Given the description of an element on the screen output the (x, y) to click on. 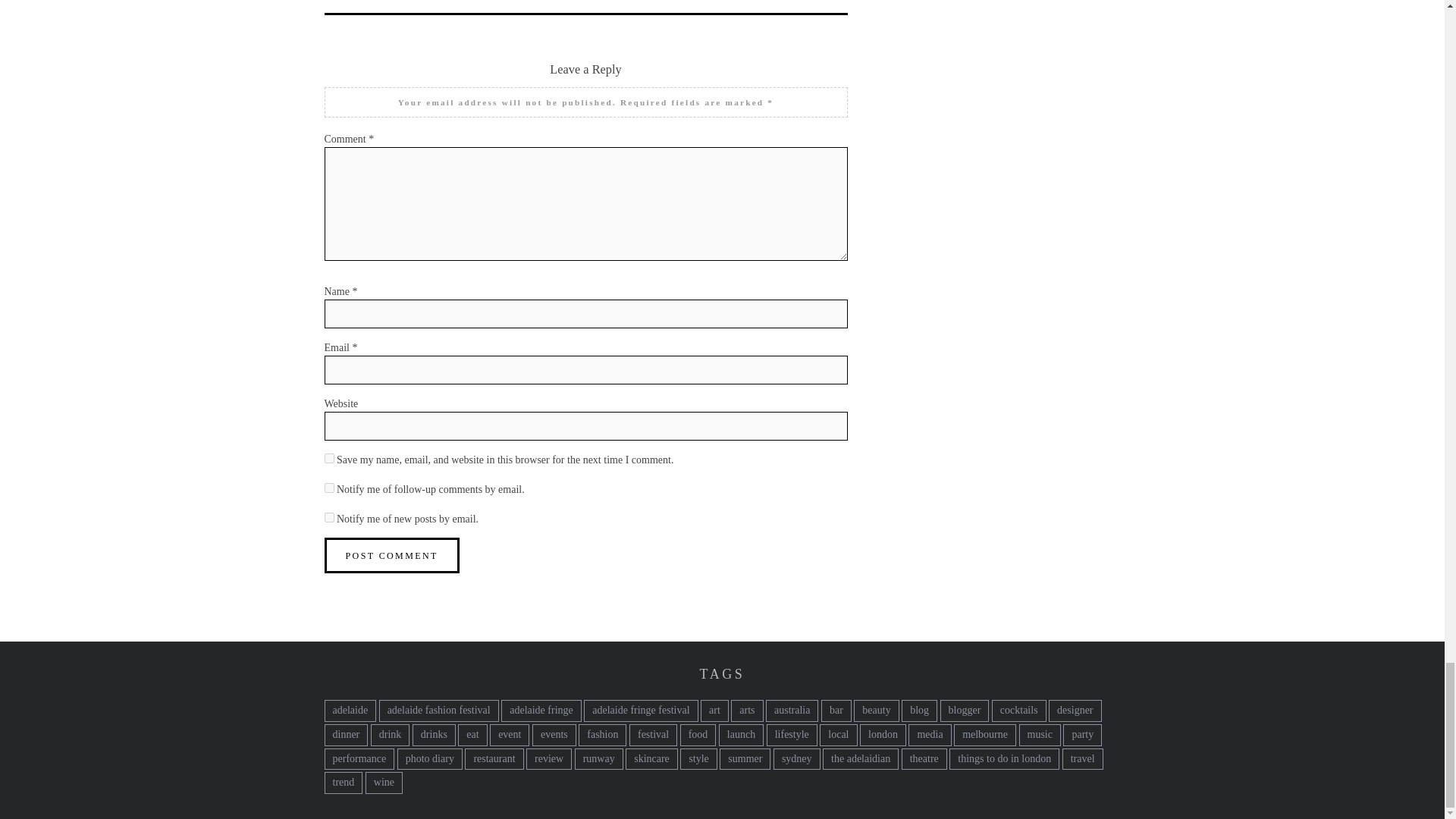
Post Comment (392, 555)
subscribe (329, 488)
yes (329, 458)
subscribe (329, 517)
